Given the description of an element on the screen output the (x, y) to click on. 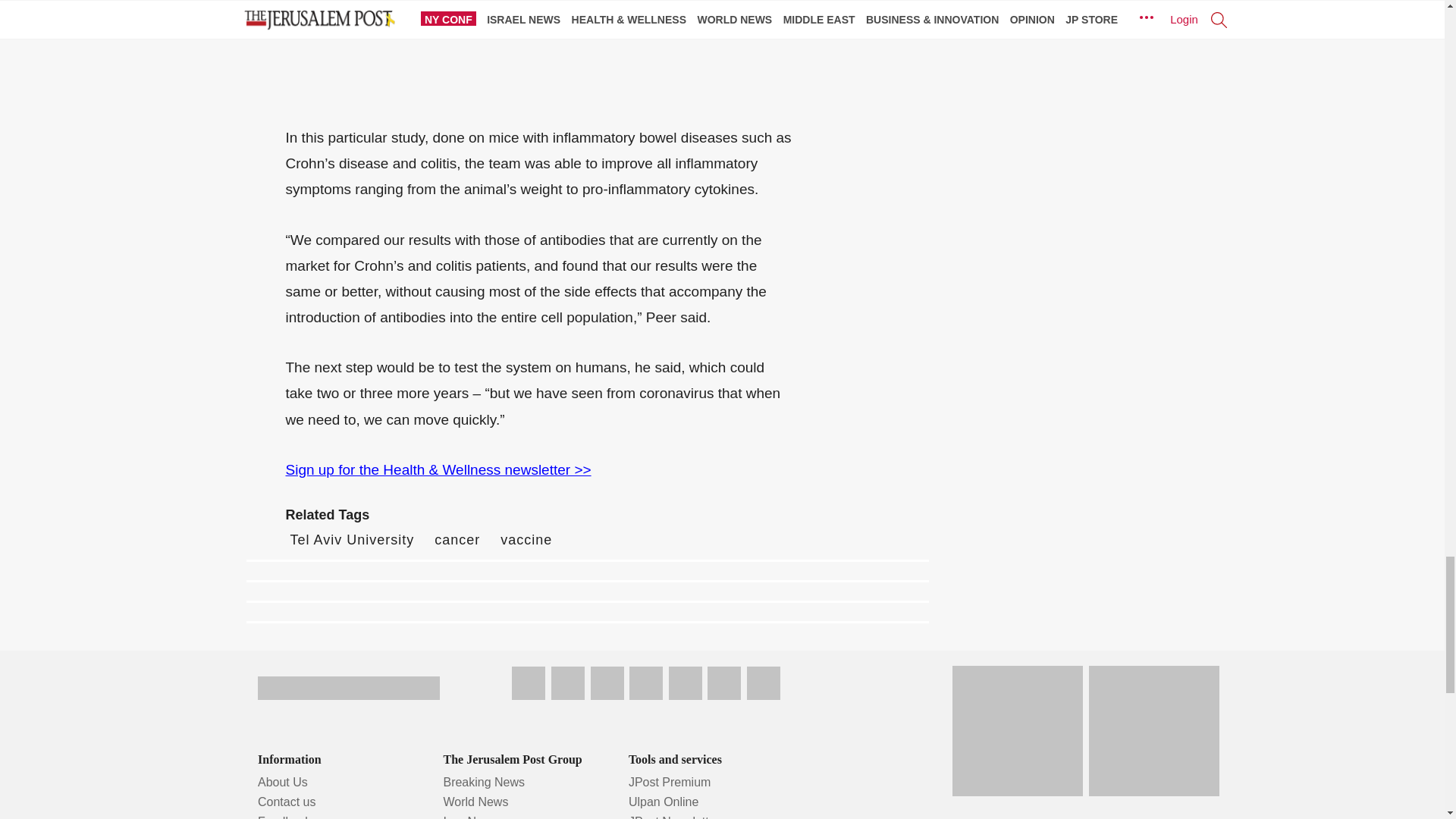
Tel Aviv University (351, 539)
vaccine (525, 539)
Tel Aviv University (351, 539)
cancer (456, 539)
vaccine (525, 539)
cancer (456, 539)
